Given the description of an element on the screen output the (x, y) to click on. 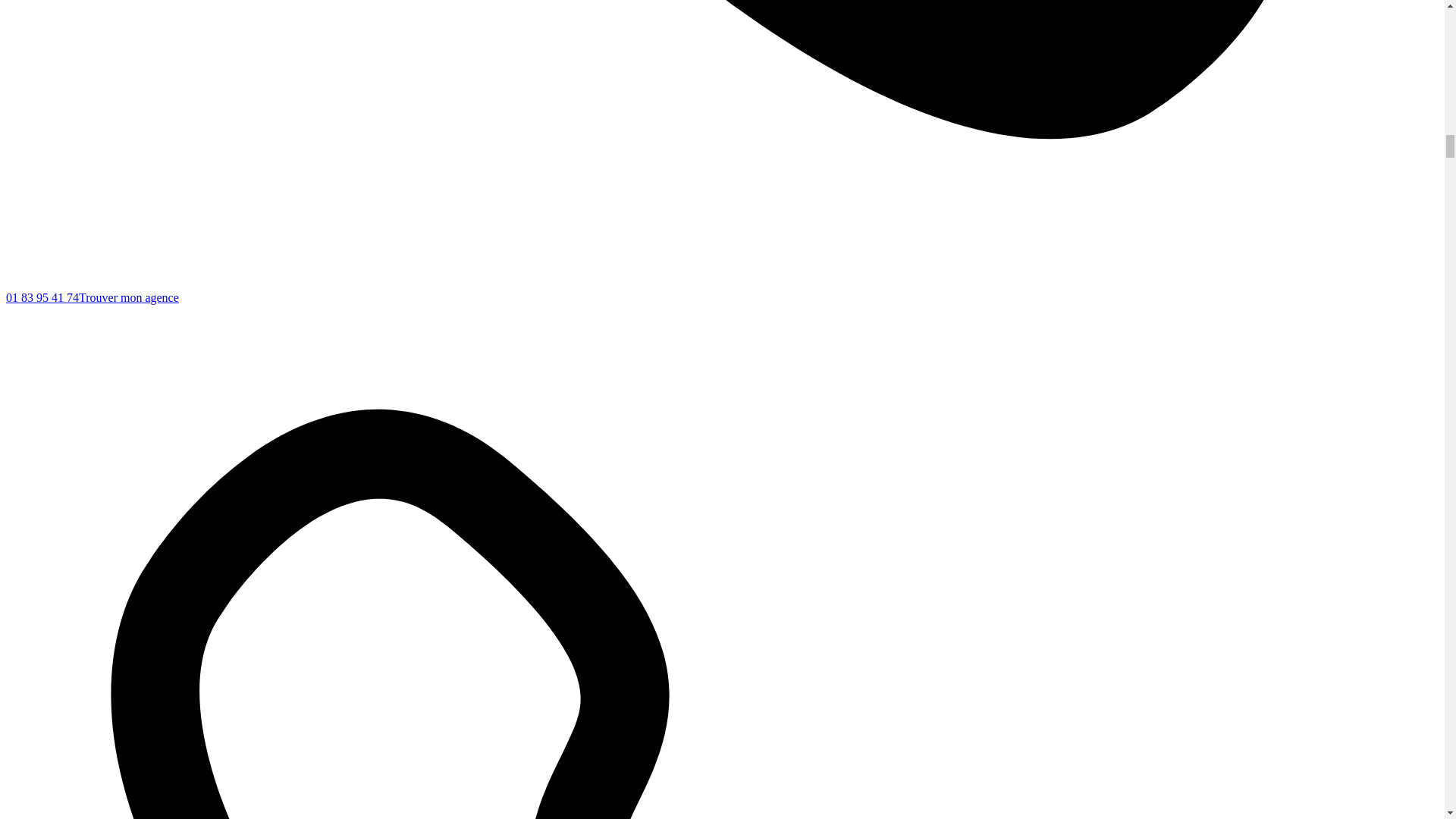
Trouver mon agence (128, 297)
